Given the description of an element on the screen output the (x, y) to click on. 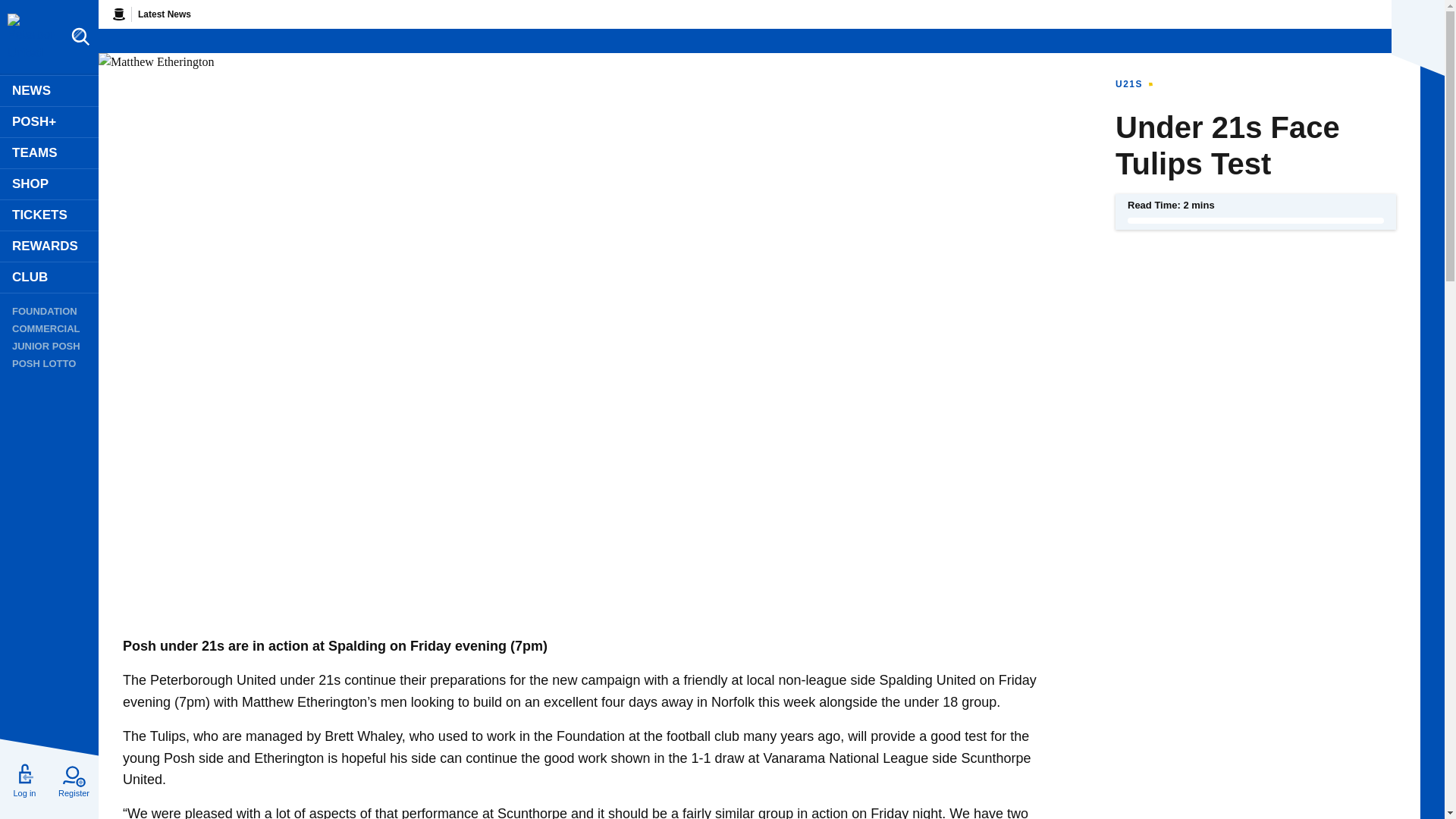
TEAMS (49, 153)
Link to Peterborough United homepage (31, 37)
Apply (365, 533)
News (49, 91)
NEWS (49, 91)
